Given the description of an element on the screen output the (x, y) to click on. 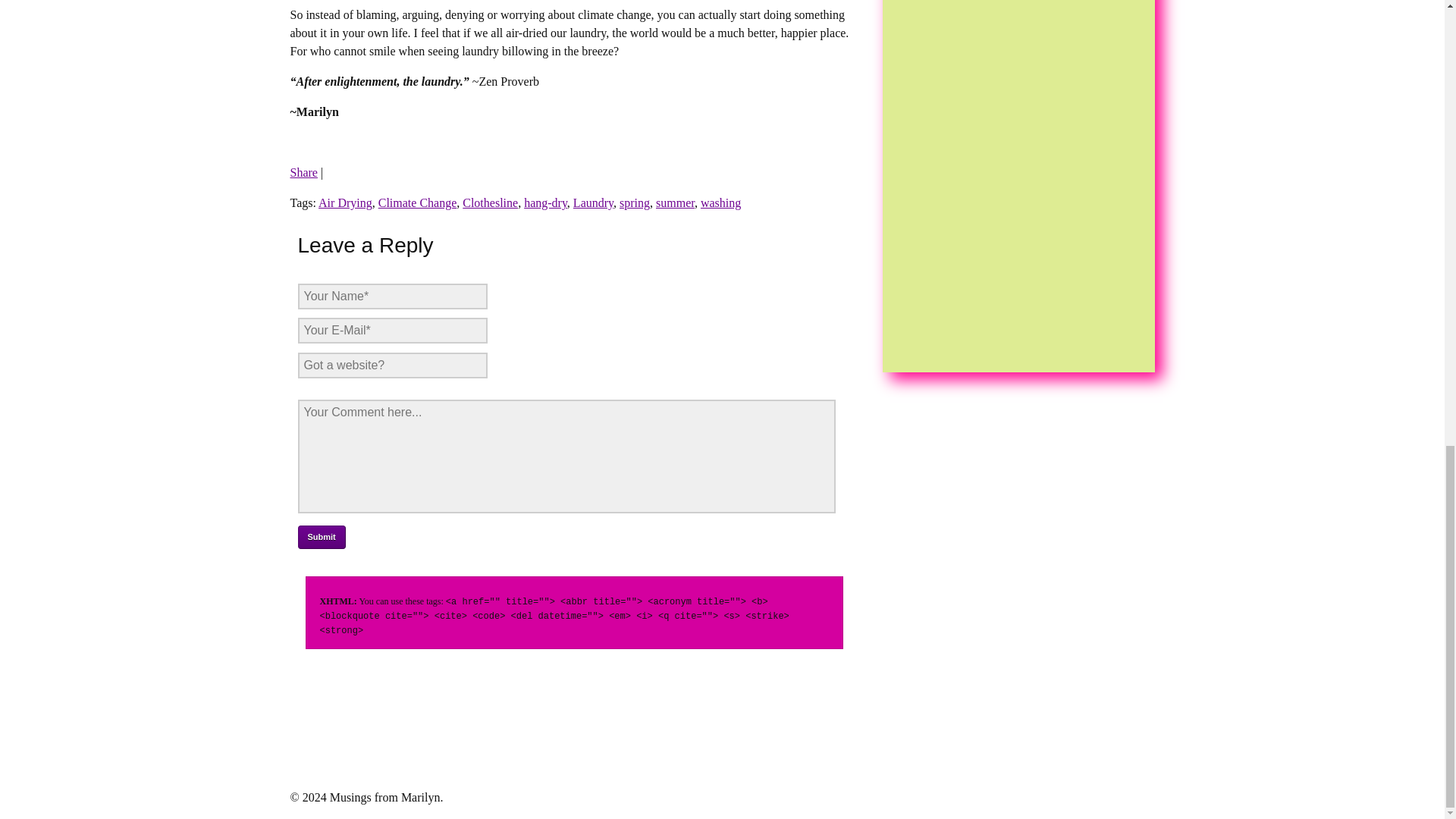
Laundry (592, 202)
Air Drying (345, 202)
summer (675, 202)
washing (720, 202)
Climate Change (417, 202)
Submit (321, 536)
Submit (321, 536)
spring (634, 202)
hang-dry (545, 202)
Share (303, 172)
Clothesline (490, 202)
